Given the description of an element on the screen output the (x, y) to click on. 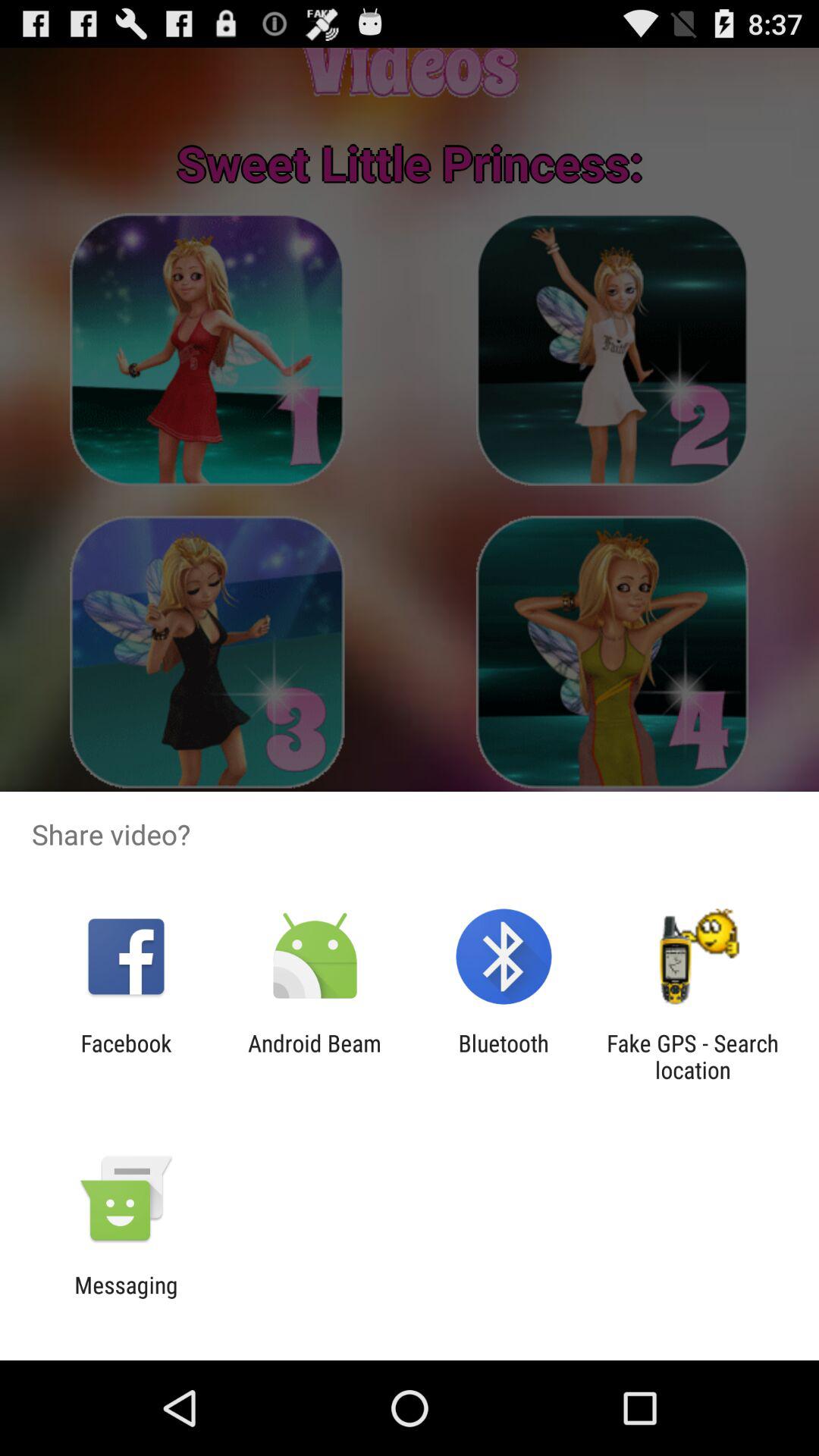
launch icon to the left of the bluetooth item (314, 1056)
